Given the description of an element on the screen output the (x, y) to click on. 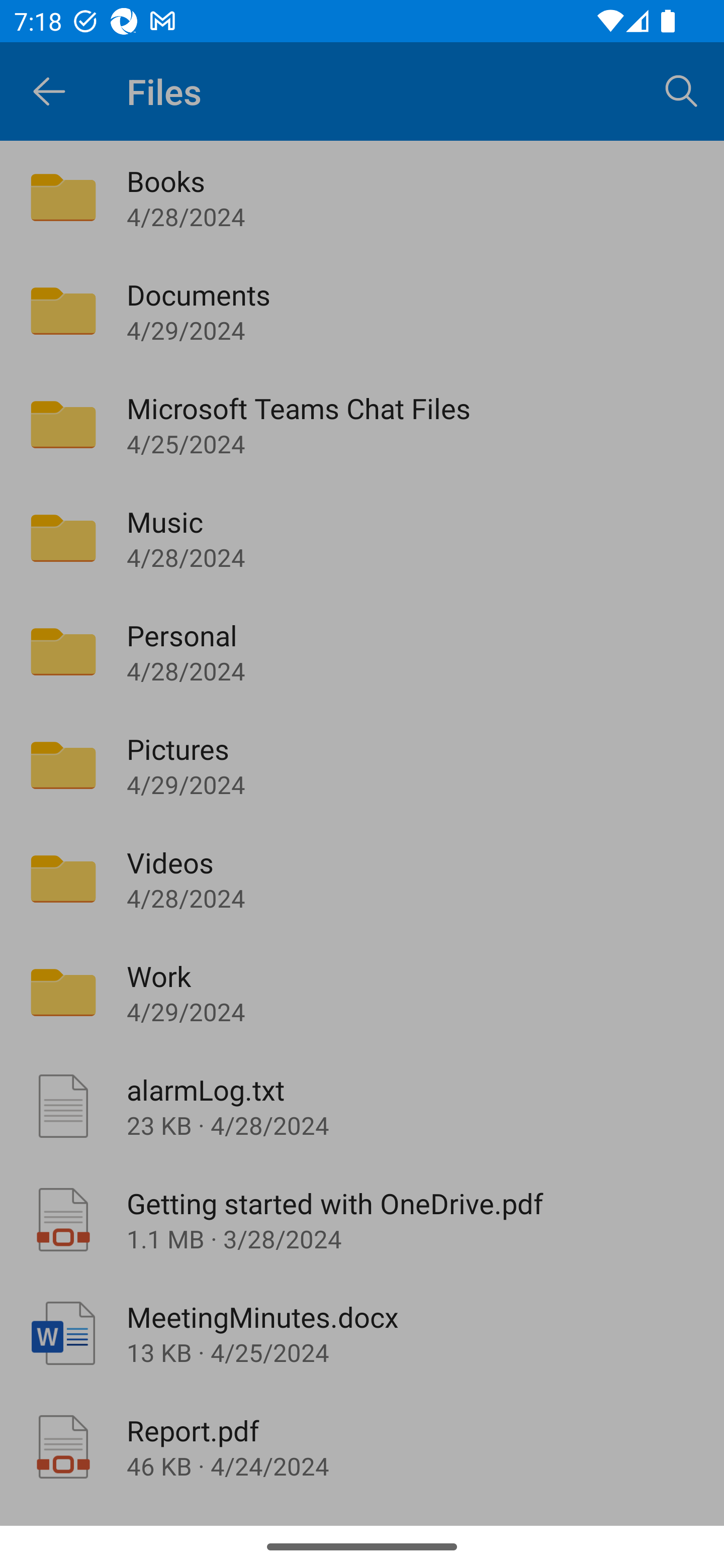
Navigate up (49, 91)
Search (681, 90)
Books 4/28/2024 (362, 197)
Documents 4/29/2024 (362, 311)
Microsoft Teams Chat Files 4/25/2024 (362, 424)
Music 4/28/2024 (362, 537)
Personal 4/28/2024 (362, 651)
Pictures 4/29/2024 (362, 764)
Videos 4/28/2024 (362, 878)
Work 4/29/2024 (362, 992)
alarmLog.txt 23 KB · 4/28/2024 (362, 1105)
MeetingMinutes.docx 13 KB · 4/25/2024 (362, 1333)
Report.pdf 46 KB · 4/24/2024 (362, 1446)
